Given the description of an element on the screen output the (x, y) to click on. 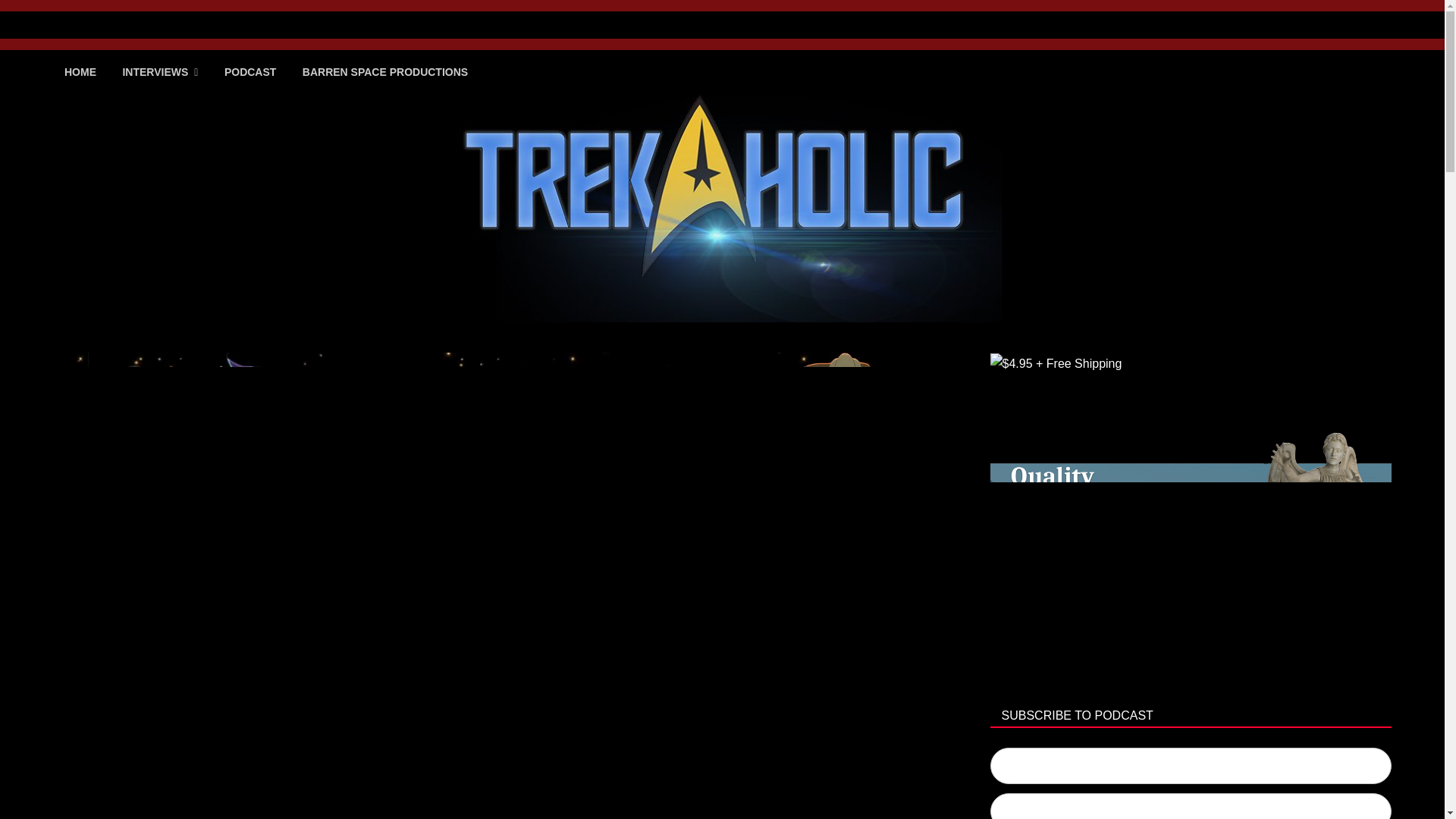
HOME (79, 71)
PODCAST (249, 71)
Subscribe on Apple Podcasts (1190, 765)
Subscribe on Google Podcasts (1190, 806)
INTERVIEWS (159, 72)
BARREN SPACE PRODUCTIONS (385, 71)
Trekaholic (131, 43)
